Given the description of an element on the screen output the (x, y) to click on. 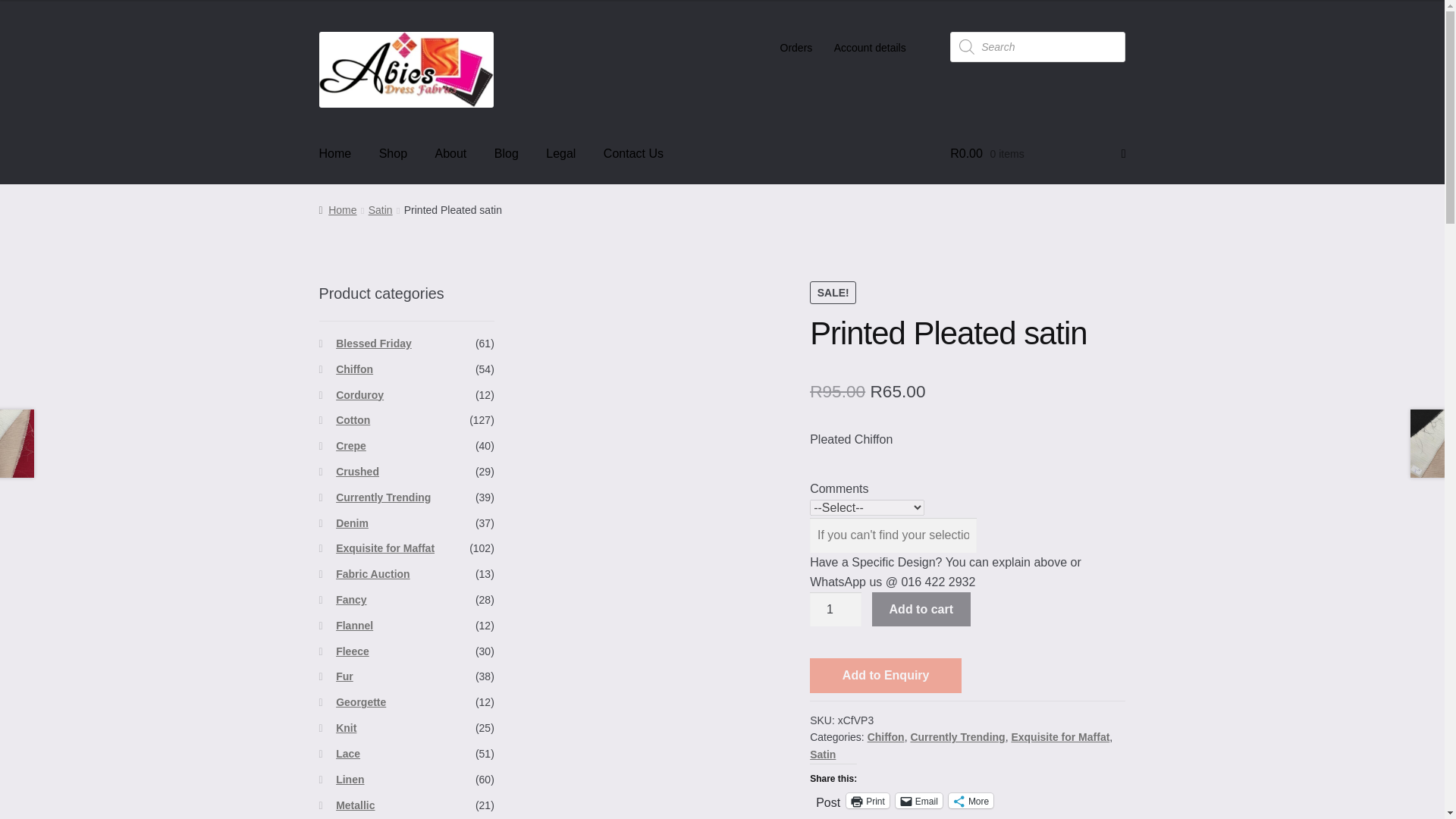
Email (918, 800)
Exquisite for Maffat (1059, 736)
Post (827, 799)
Click to email a link to a friend (918, 800)
Contact Us (633, 153)
About (450, 153)
Click to print (867, 800)
Home (335, 153)
More (970, 800)
View your shopping cart (1037, 153)
Add to cart (921, 609)
Satin (380, 209)
Currently Trending (957, 736)
Add to Enquiry (884, 675)
Orders (795, 47)
